Given the description of an element on the screen output the (x, y) to click on. 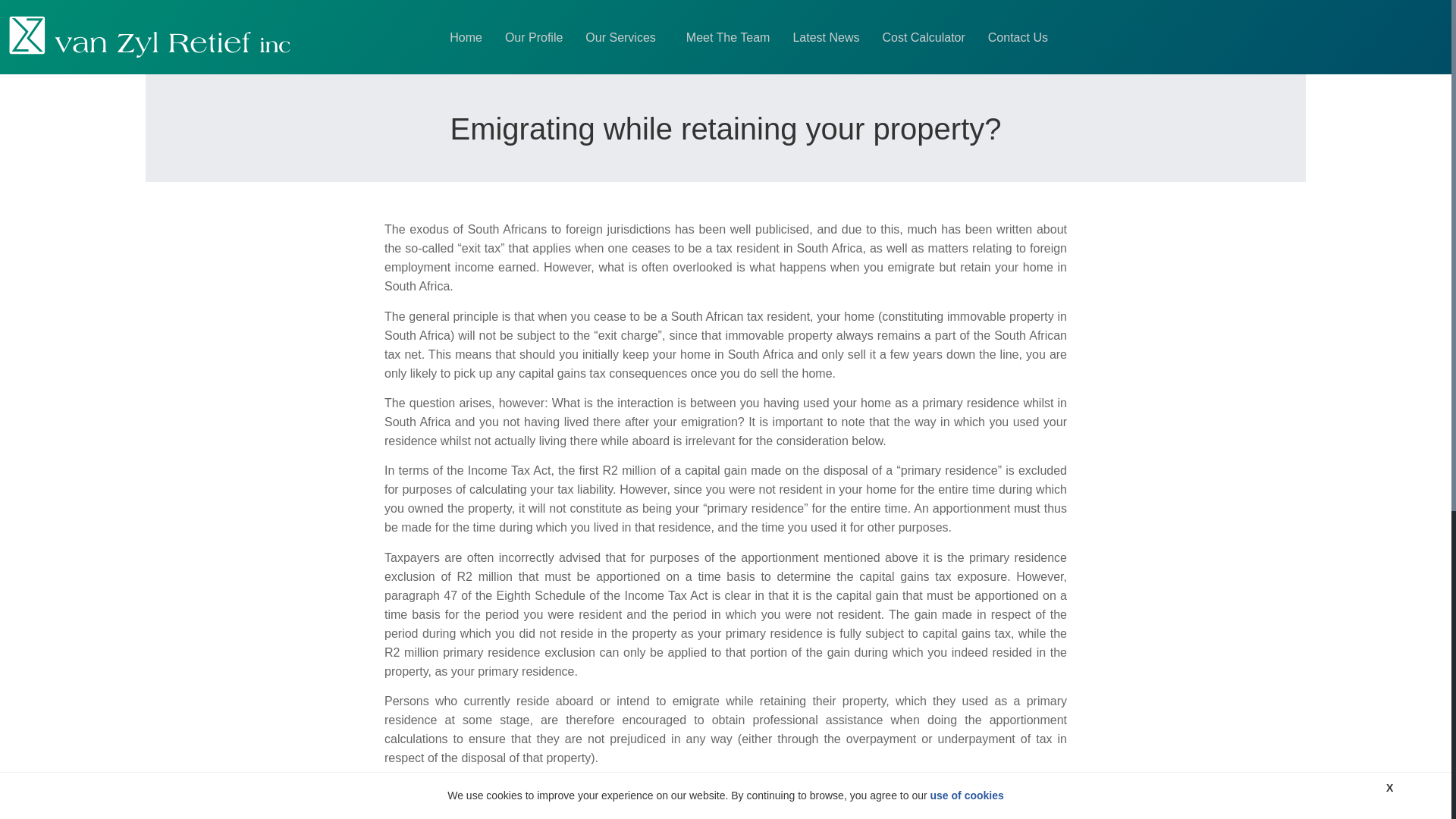
Contact Us (1017, 37)
Home (465, 37)
Cost Calculator (922, 37)
Latest News (825, 37)
Meet The Team (728, 37)
Our Services (623, 37)
use of cookies (967, 795)
Our Profile (533, 37)
